Given the description of an element on the screen output the (x, y) to click on. 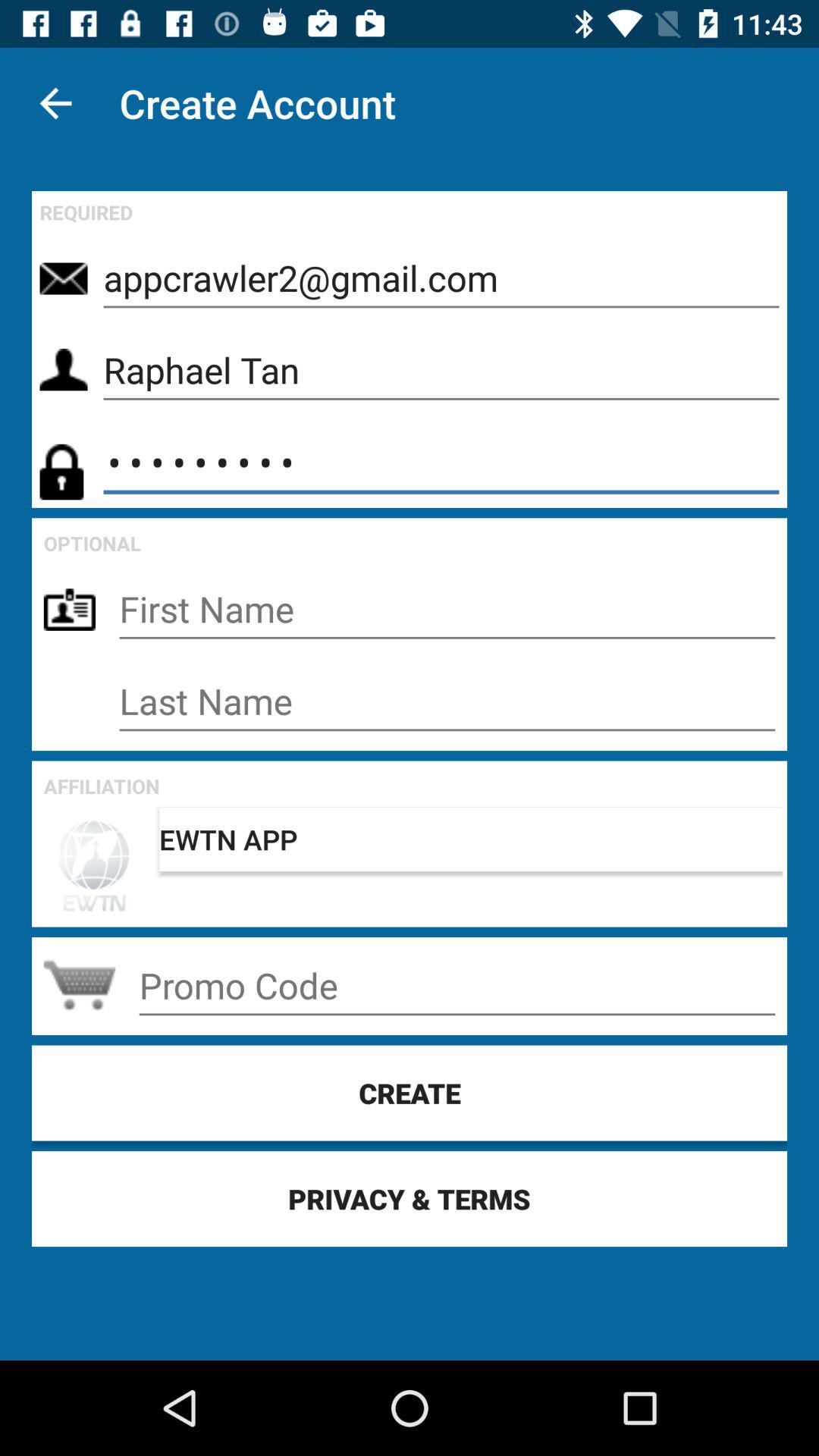
tap the app next to the create account item (55, 103)
